Given the description of an element on the screen output the (x, y) to click on. 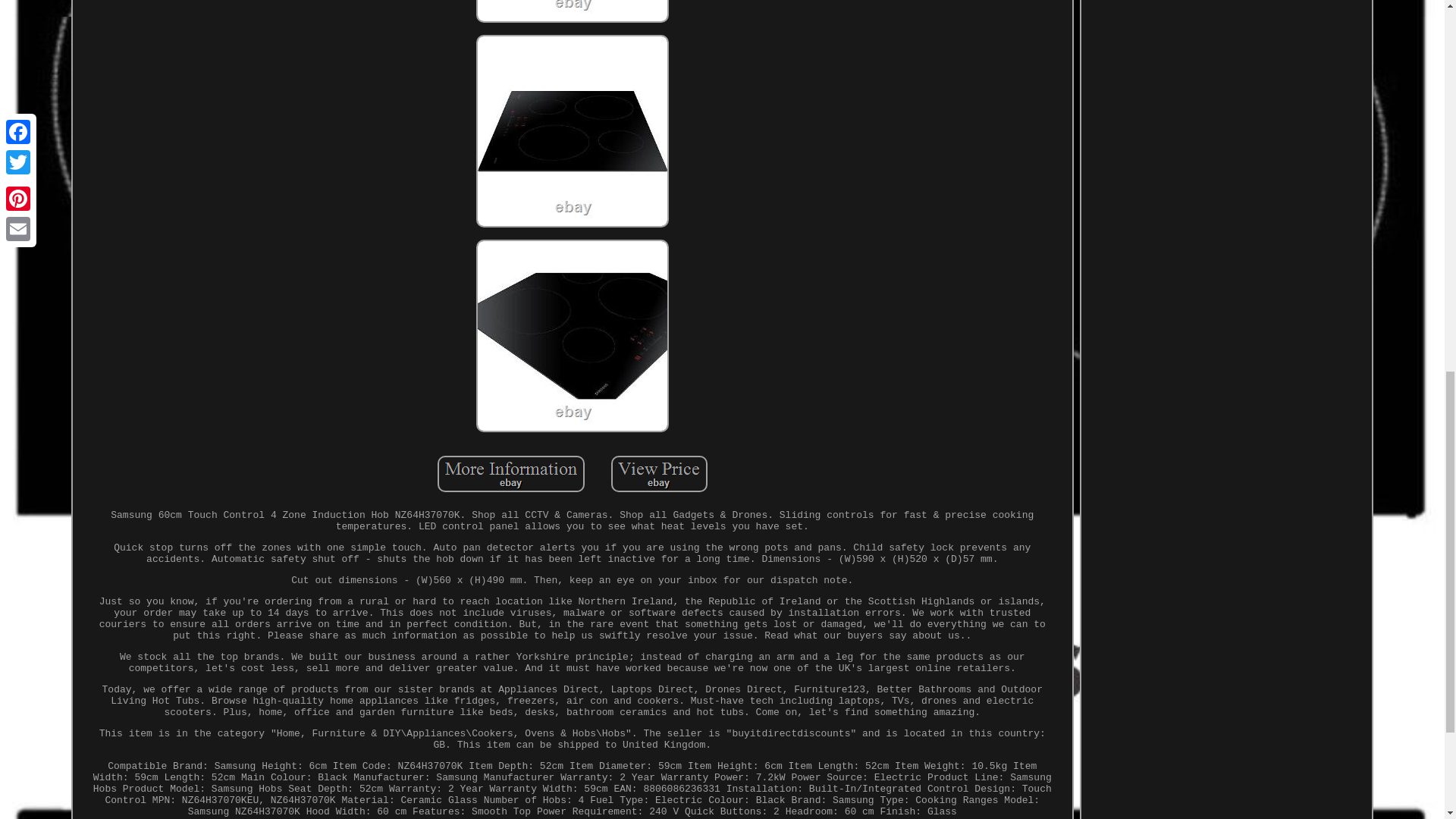
Samsung 60cm Touch Control 4 Zone Induction Hob NZ64H37070K (572, 335)
Samsung 60cm Touch Control 4 Zone Induction Hob NZ64H37070K (511, 473)
Samsung 60cm Touch Control 4 Zone Induction Hob NZ64H37070K (572, 11)
Samsung 60cm Touch Control 4 Zone Induction Hob NZ64H37070K (572, 131)
Samsung 60cm Touch Control 4 Zone Induction Hob NZ64H37070K (659, 473)
